Given the description of an element on the screen output the (x, y) to click on. 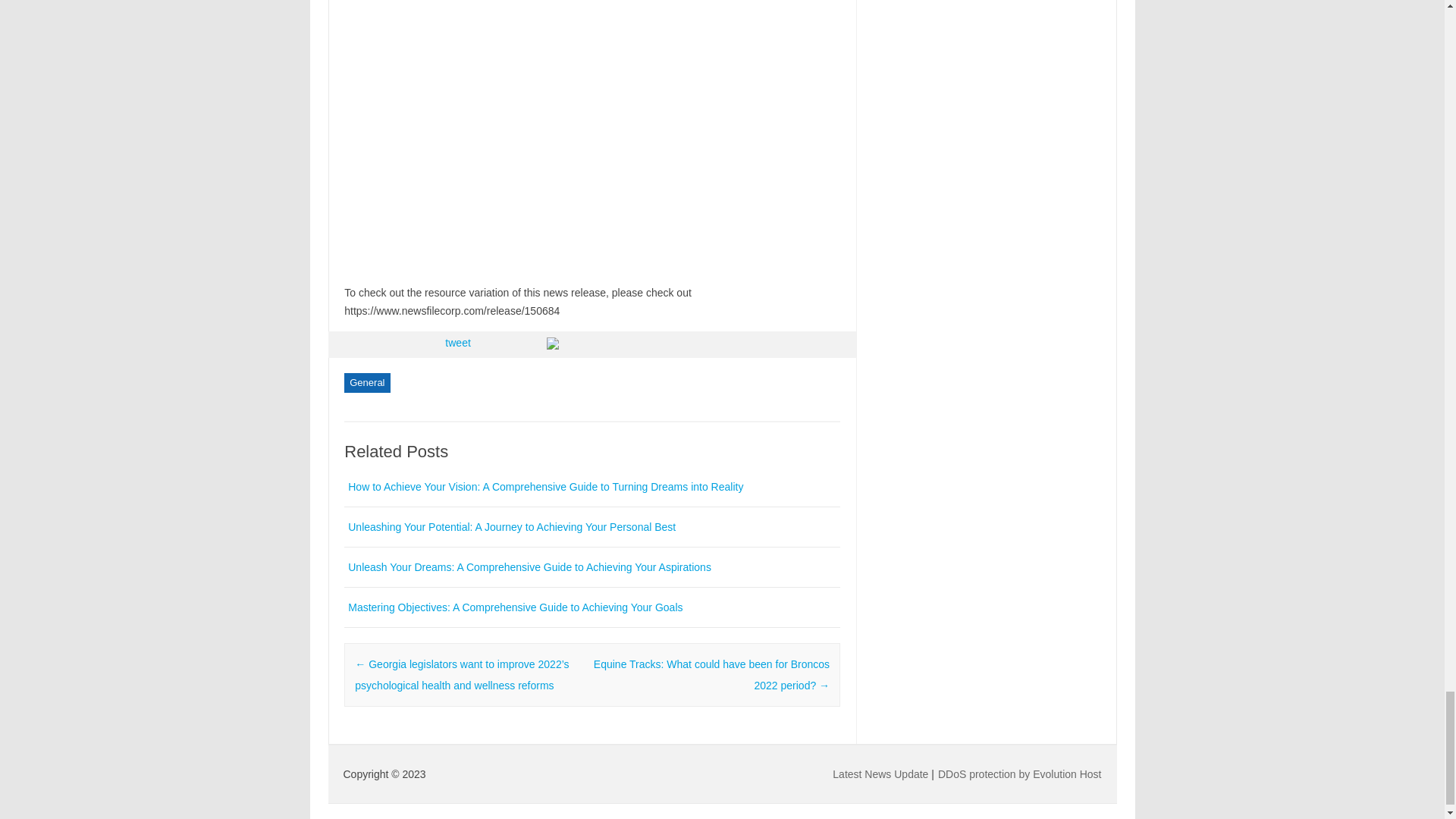
General (366, 383)
tweet (457, 342)
